Given the description of an element on the screen output the (x, y) to click on. 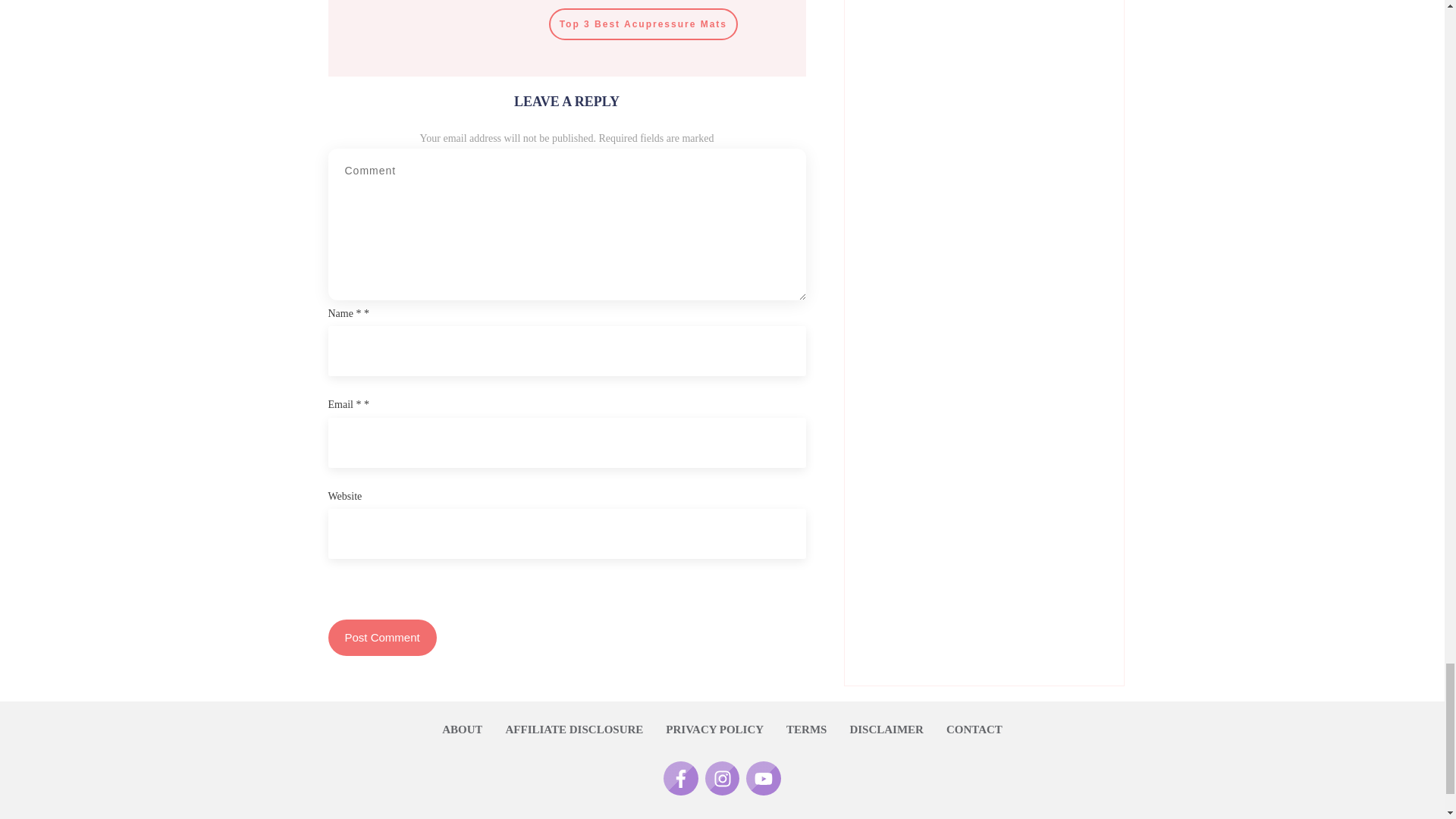
Post Comment (381, 637)
Top 3 Best Acupressure Mats (643, 24)
